Given the description of an element on the screen output the (x, y) to click on. 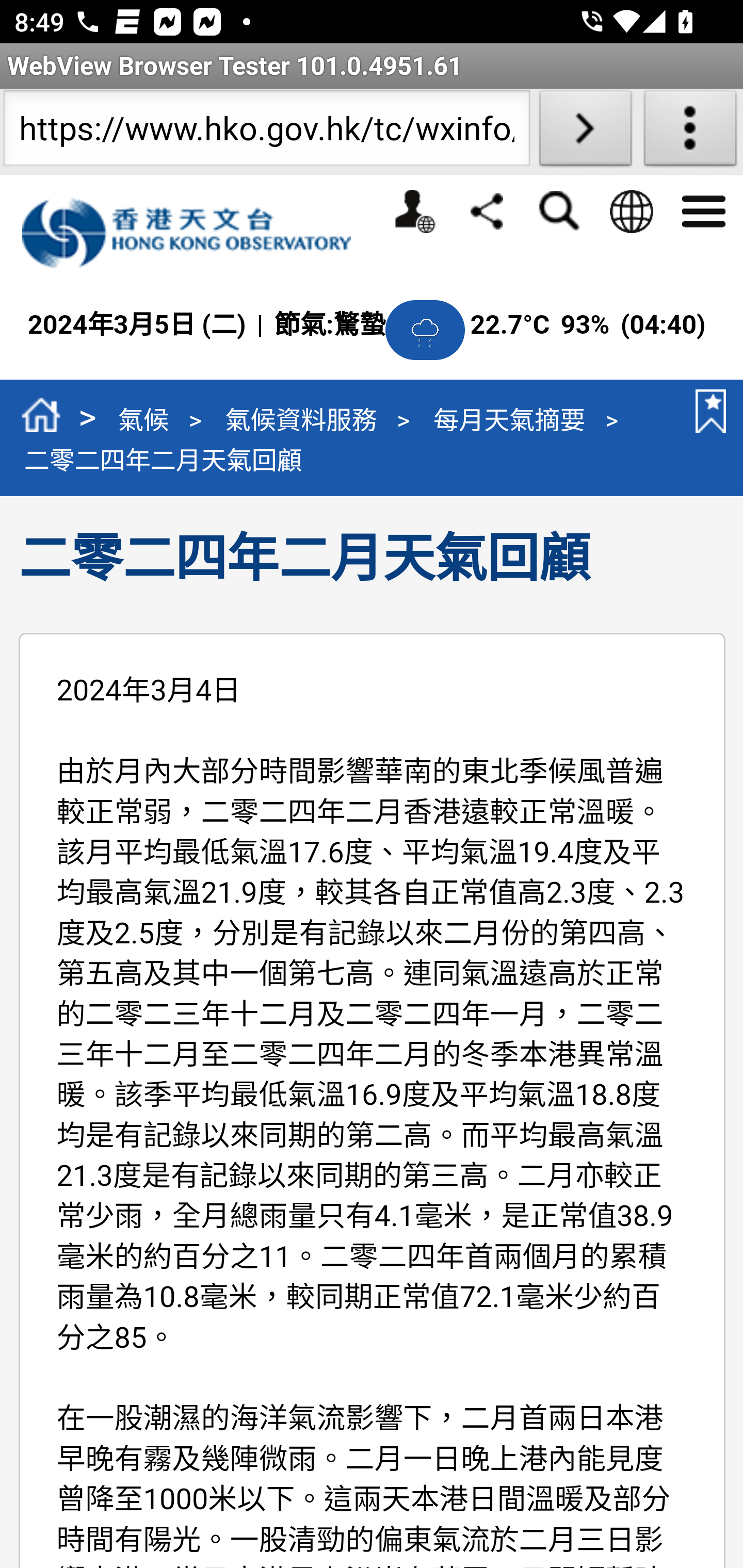
Load URL (585, 132)
About WebView (690, 132)
香港天文台 (197, 233)
個人版網站 個人版網站 (414, 211)
搜尋 搜尋 (558, 211)
語言 語言 (630, 211)
分享 分享 (486, 210)
選單 選單 (703, 209)
書籤 書籤 書籤 書籤 (706, 410)
主頁 (41, 417)
氣候 (143, 419)
氣候資料服務 (300, 419)
每月天氣摘要 (509, 419)
